Given the description of an element on the screen output the (x, y) to click on. 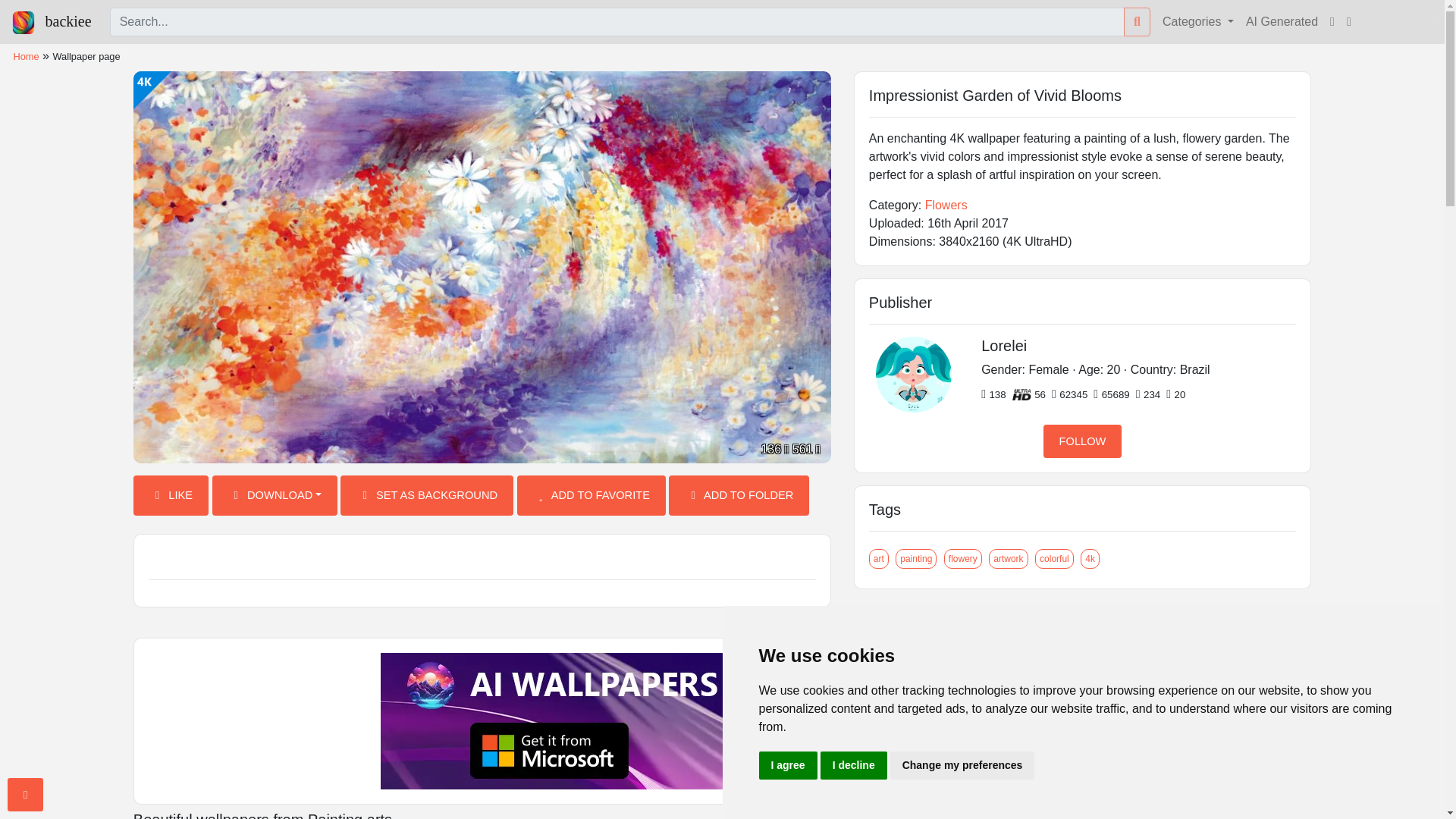
DOWNLOAD (274, 495)
I agree (787, 765)
Categories (1198, 21)
Home (26, 56)
backiee (51, 21)
Change my preferences (962, 765)
ADD TO FOLDER (738, 495)
SET AS BACKGROUND (426, 495)
Comments (481, 557)
LIKE (170, 495)
